Given the description of an element on the screen output the (x, y) to click on. 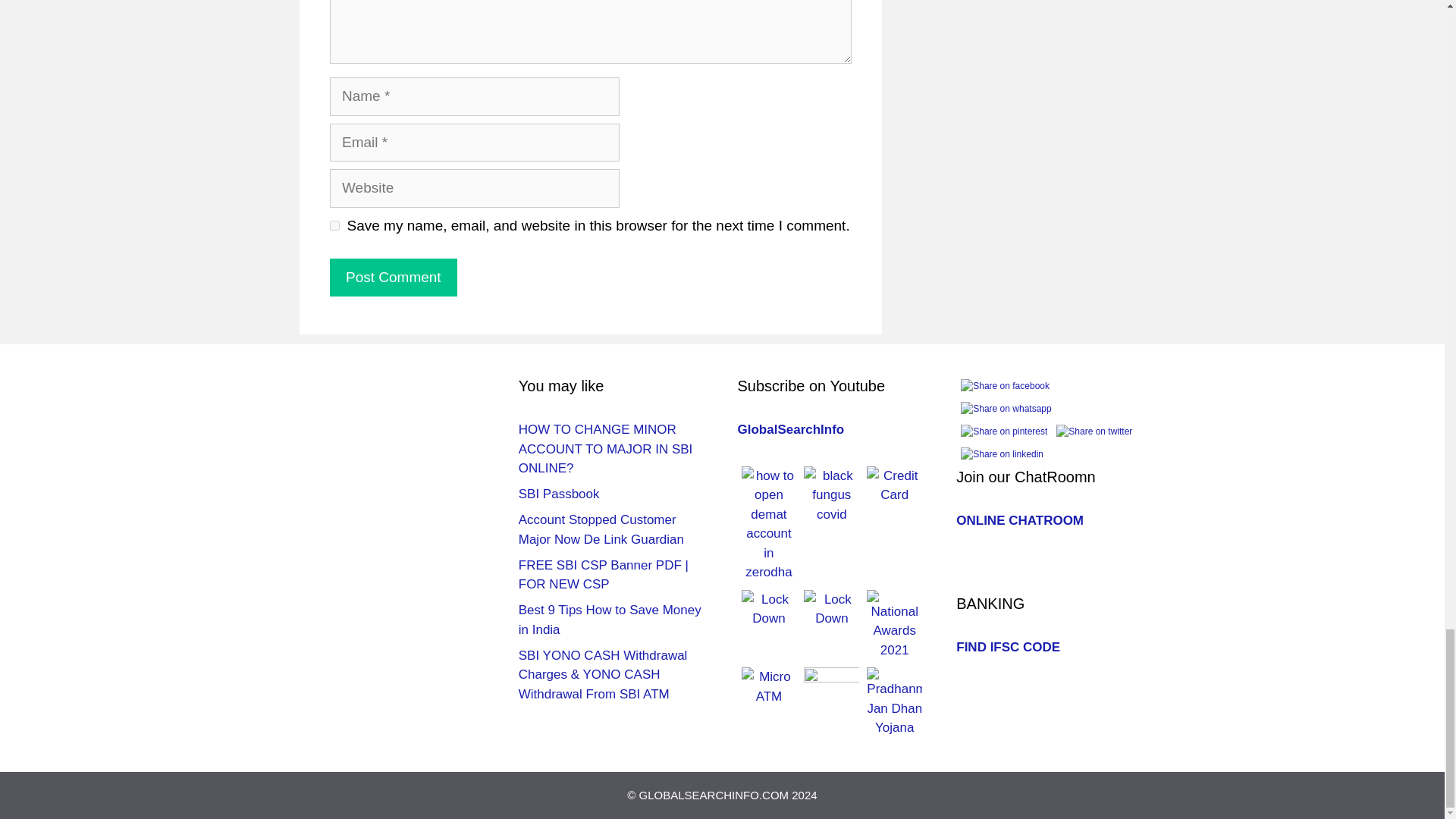
yes (334, 225)
facebook (1005, 385)
Post Comment (393, 277)
whatsapp (1005, 408)
